Given the description of an element on the screen output the (x, y) to click on. 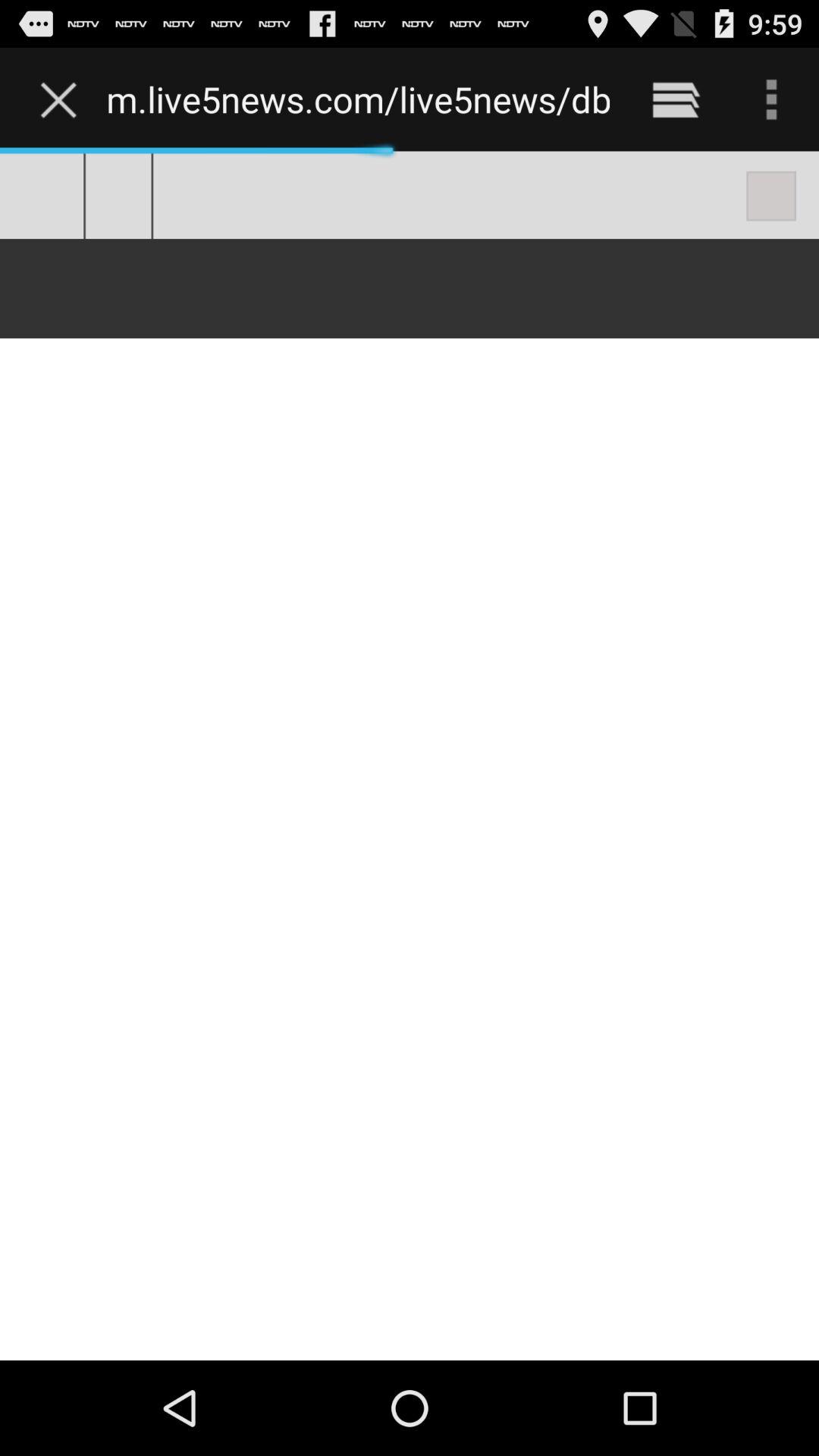
turn off icon next to m live5news com icon (675, 99)
